Given the description of an element on the screen output the (x, y) to click on. 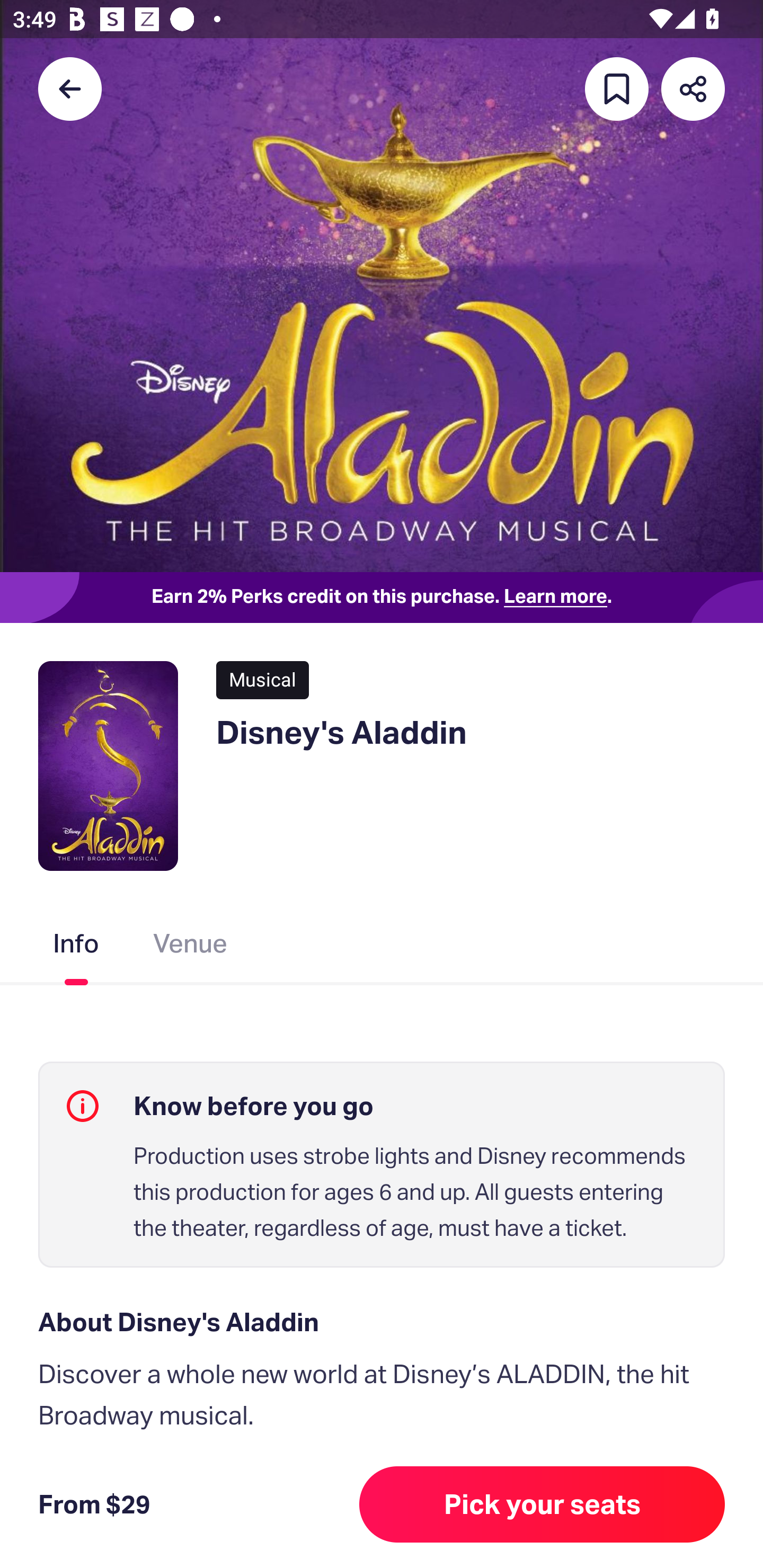
Earn 2% Perks credit on this purchase. Learn more. (381, 597)
Venue (190, 946)
About Disney's Aladdin (381, 1322)
Pick your seats (541, 1504)
